Given the description of an element on the screen output the (x, y) to click on. 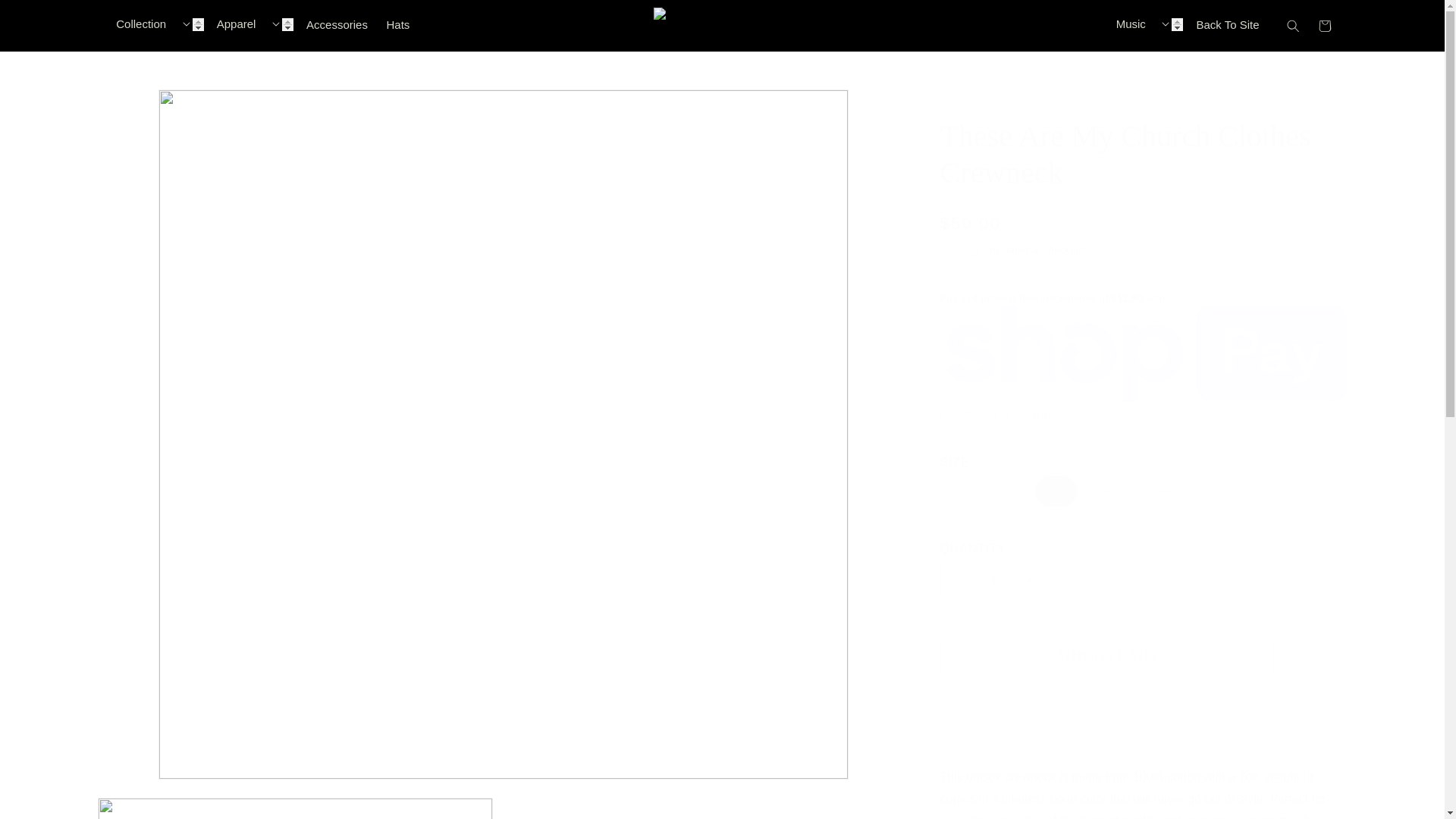
1 (994, 580)
Accessories (337, 24)
Cart (1324, 25)
Back To Site (1228, 24)
SKIP TO CONTENT (21, 9)
Hats (397, 24)
Open media 2 in modal (295, 808)
